Given the description of an element on the screen output the (x, y) to click on. 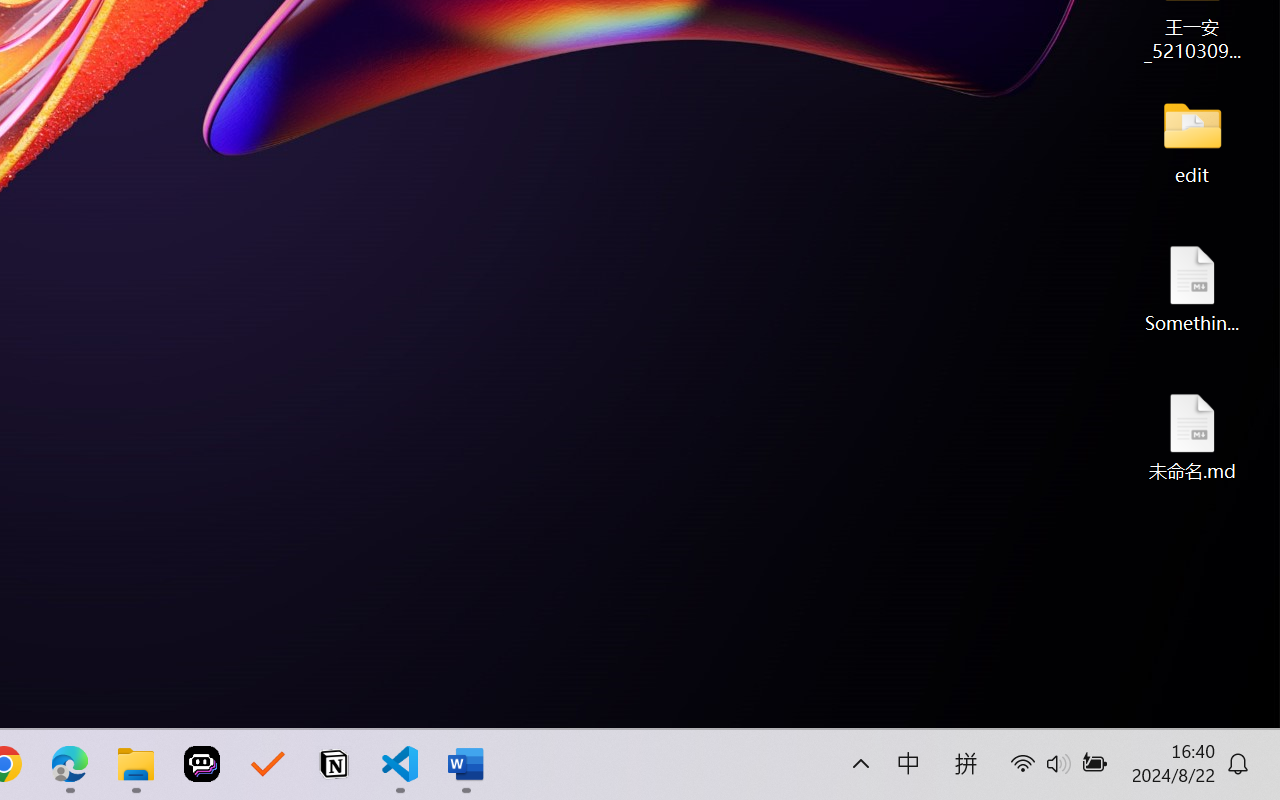
Something.md (1192, 288)
edit (1192, 140)
